Given the description of an element on the screen output the (x, y) to click on. 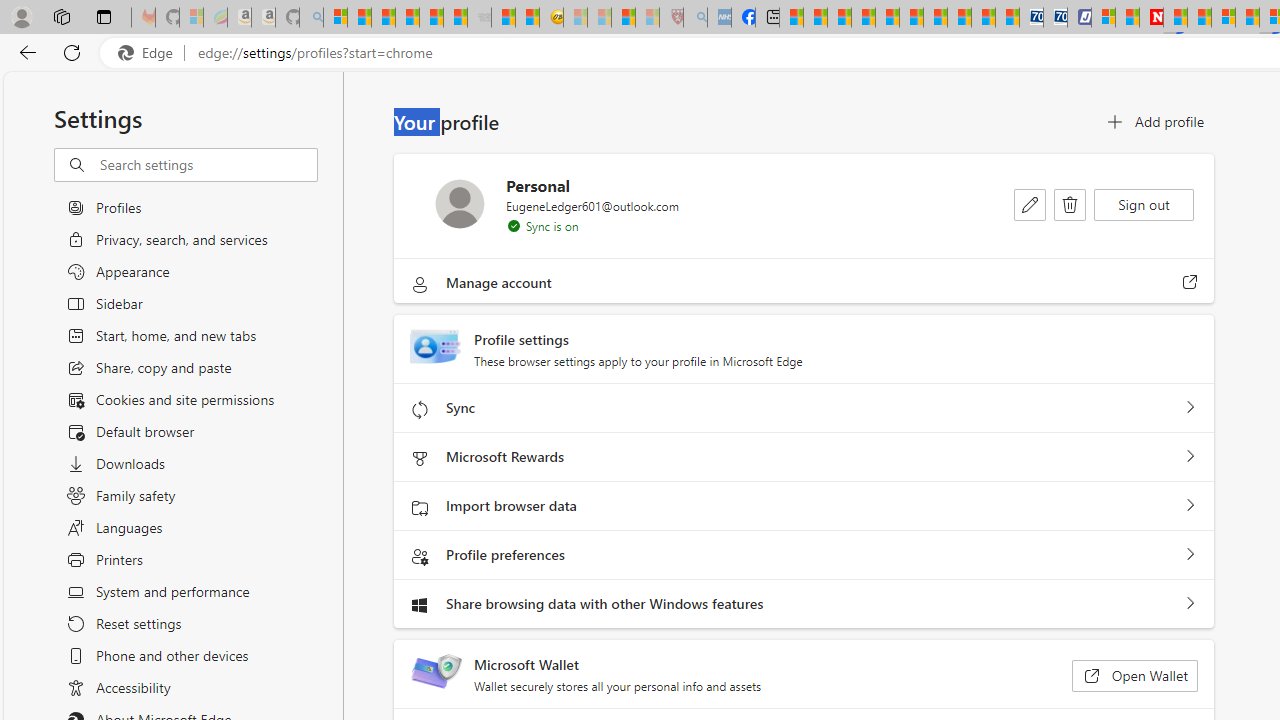
14 Common Myths Debunked By Scientific Facts (1198, 17)
